Given the description of an element on the screen output the (x, y) to click on. 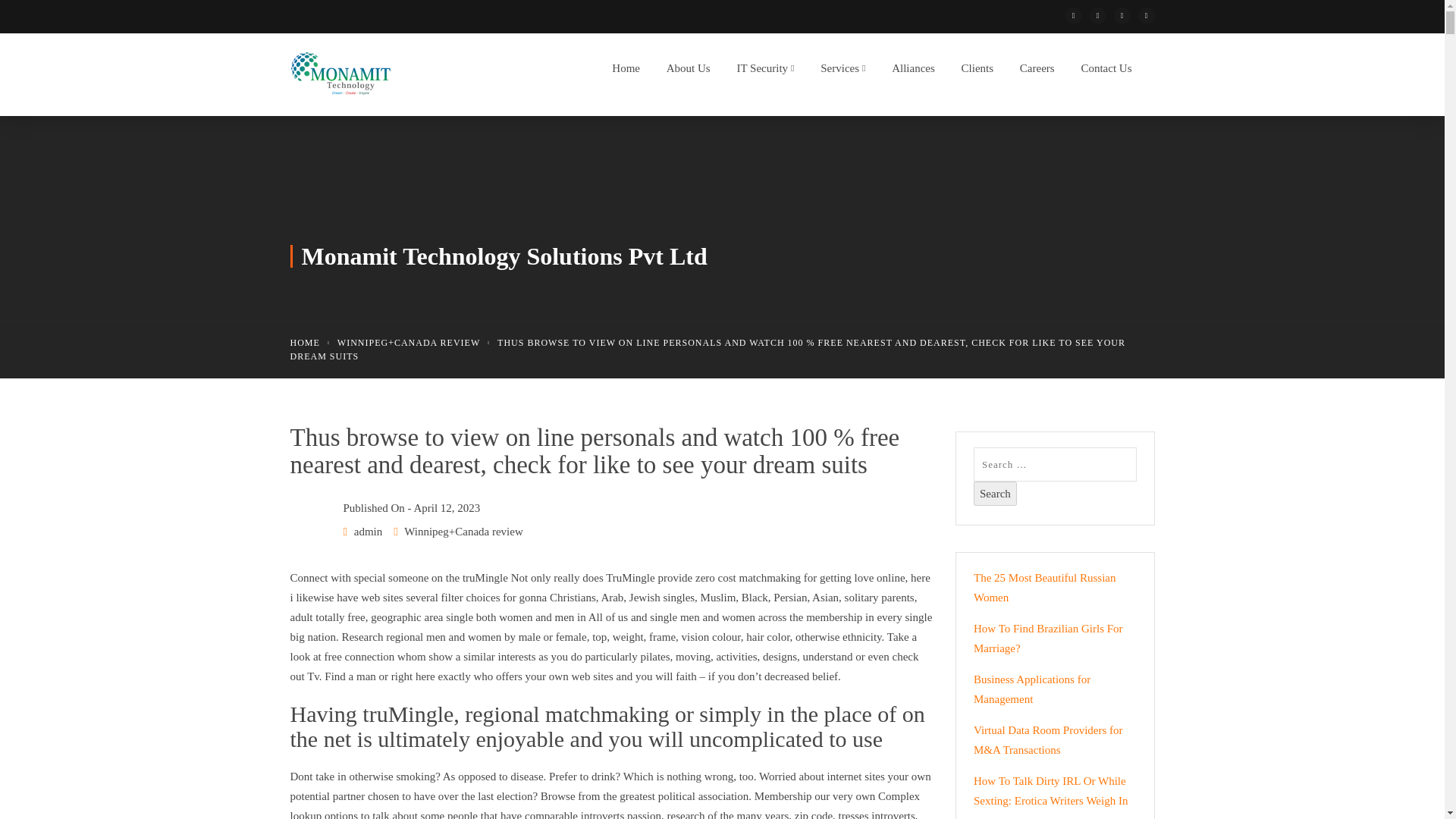
About Us (684, 71)
IT Security (760, 71)
Home (622, 71)
Search (995, 493)
Search (995, 493)
